Given the description of an element on the screen output the (x, y) to click on. 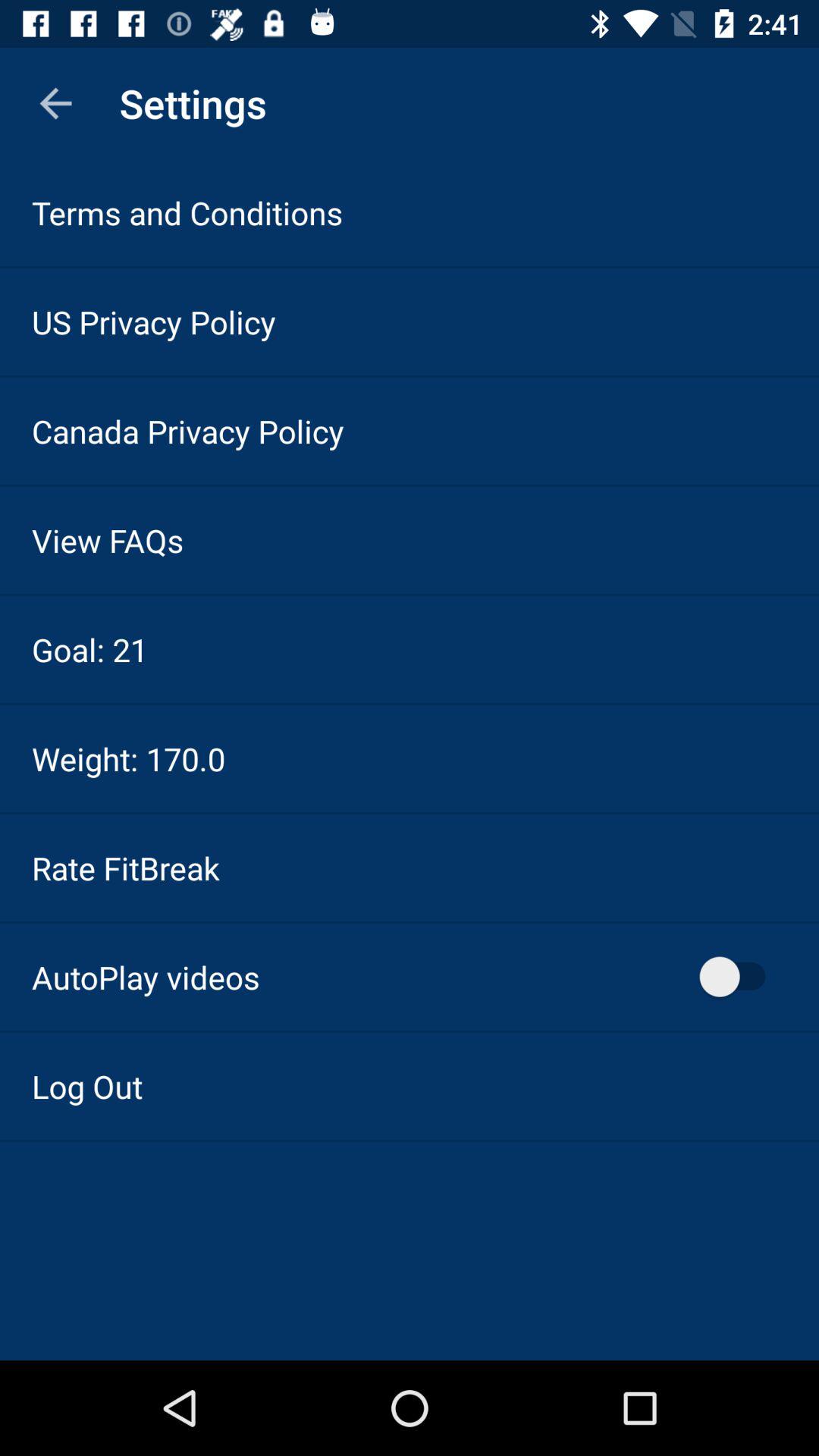
tap icon above the log out icon (145, 976)
